Given the description of an element on the screen output the (x, y) to click on. 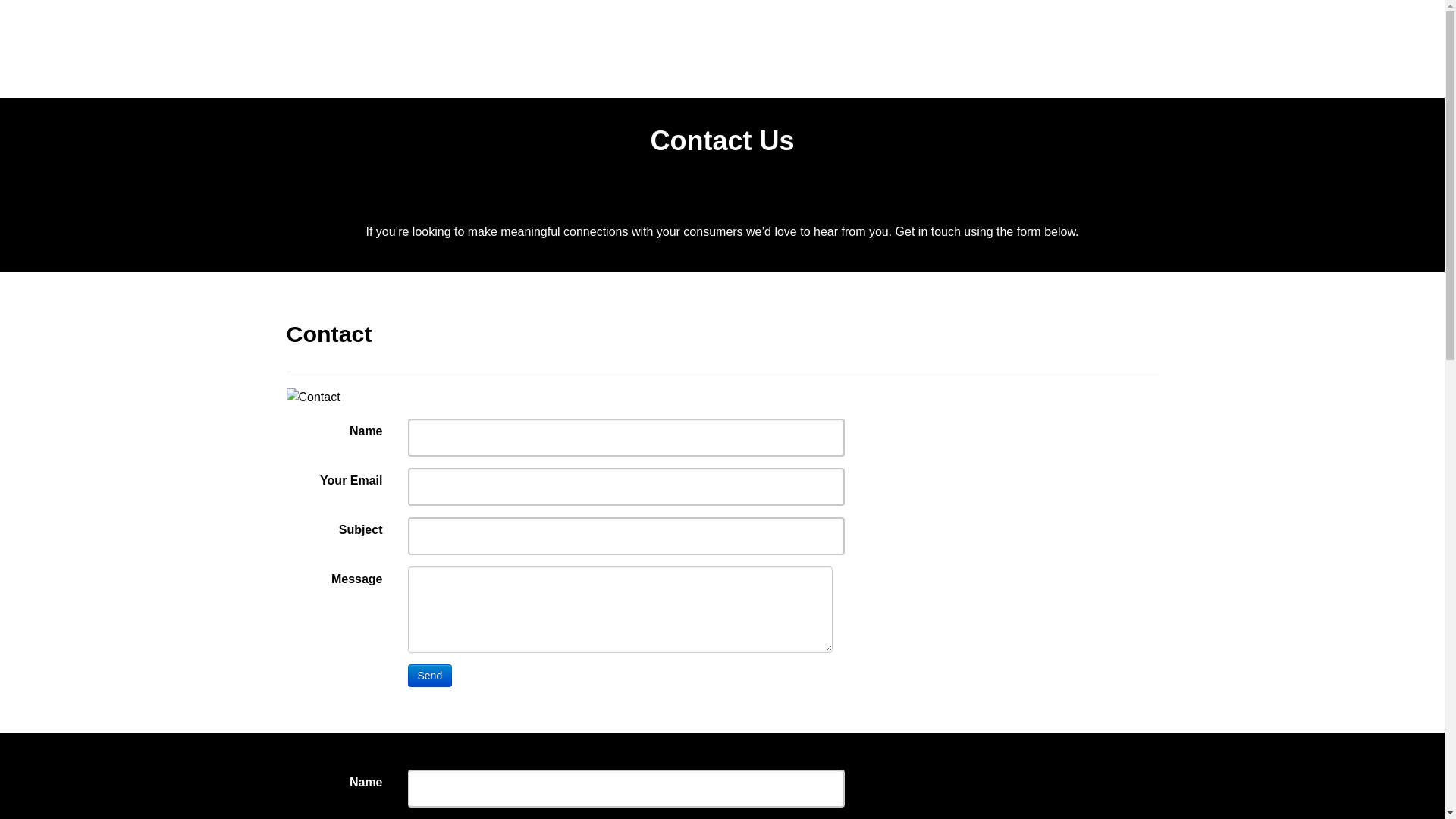
Send Element type: text (429, 675)
